Given the description of an element on the screen output the (x, y) to click on. 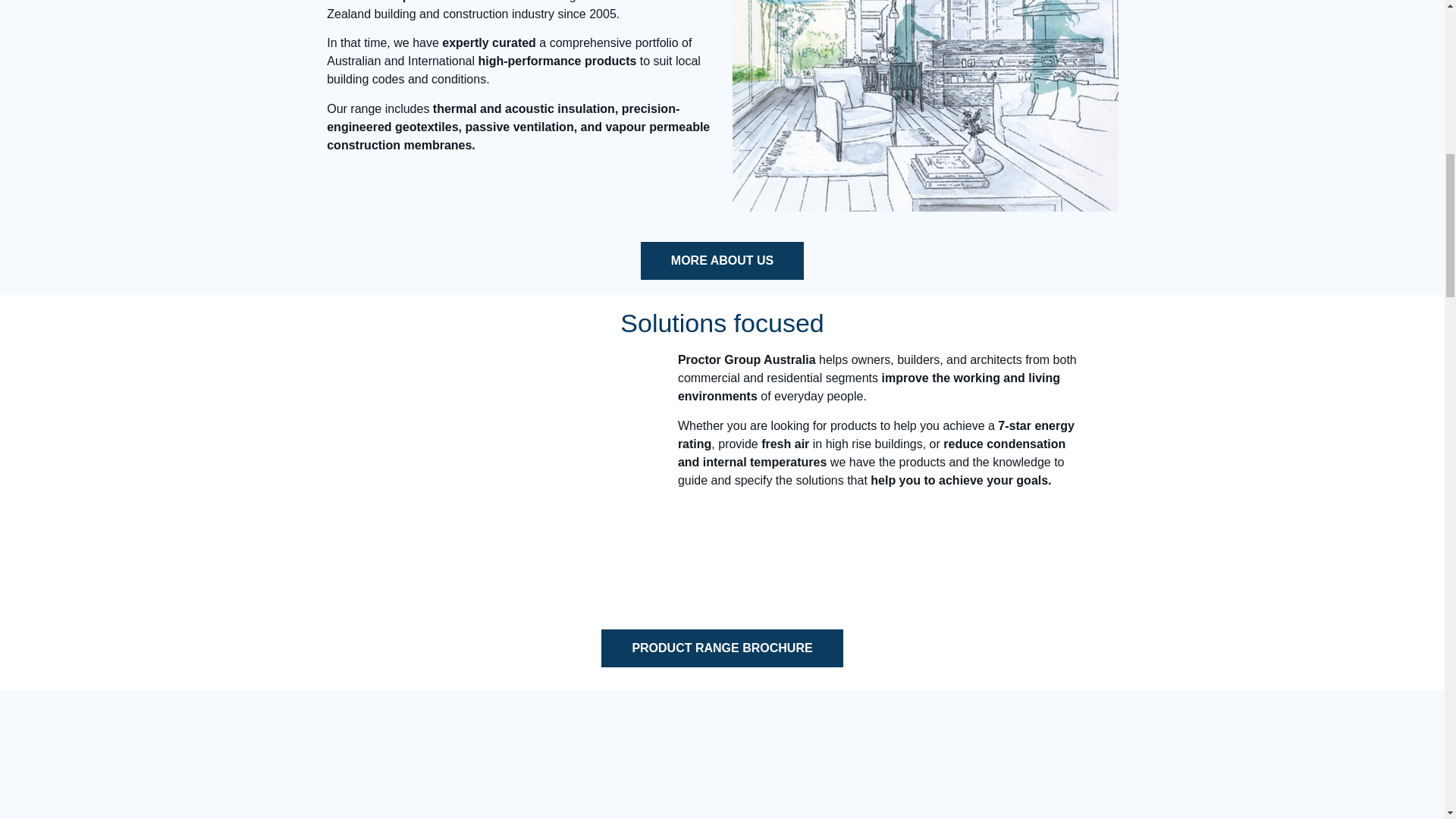
PGA Catalogue (470, 478)
Proctor-Group-Australia-INSULATION-DCT-XPS-300-GA.opti (316, 805)
CONSTRUCTION MEMBRANES Proctor Wraptite UV.opti (722, 805)
ProctorPassive Wraptite TAPE.opti (1126, 805)
